Given the description of an element on the screen output the (x, y) to click on. 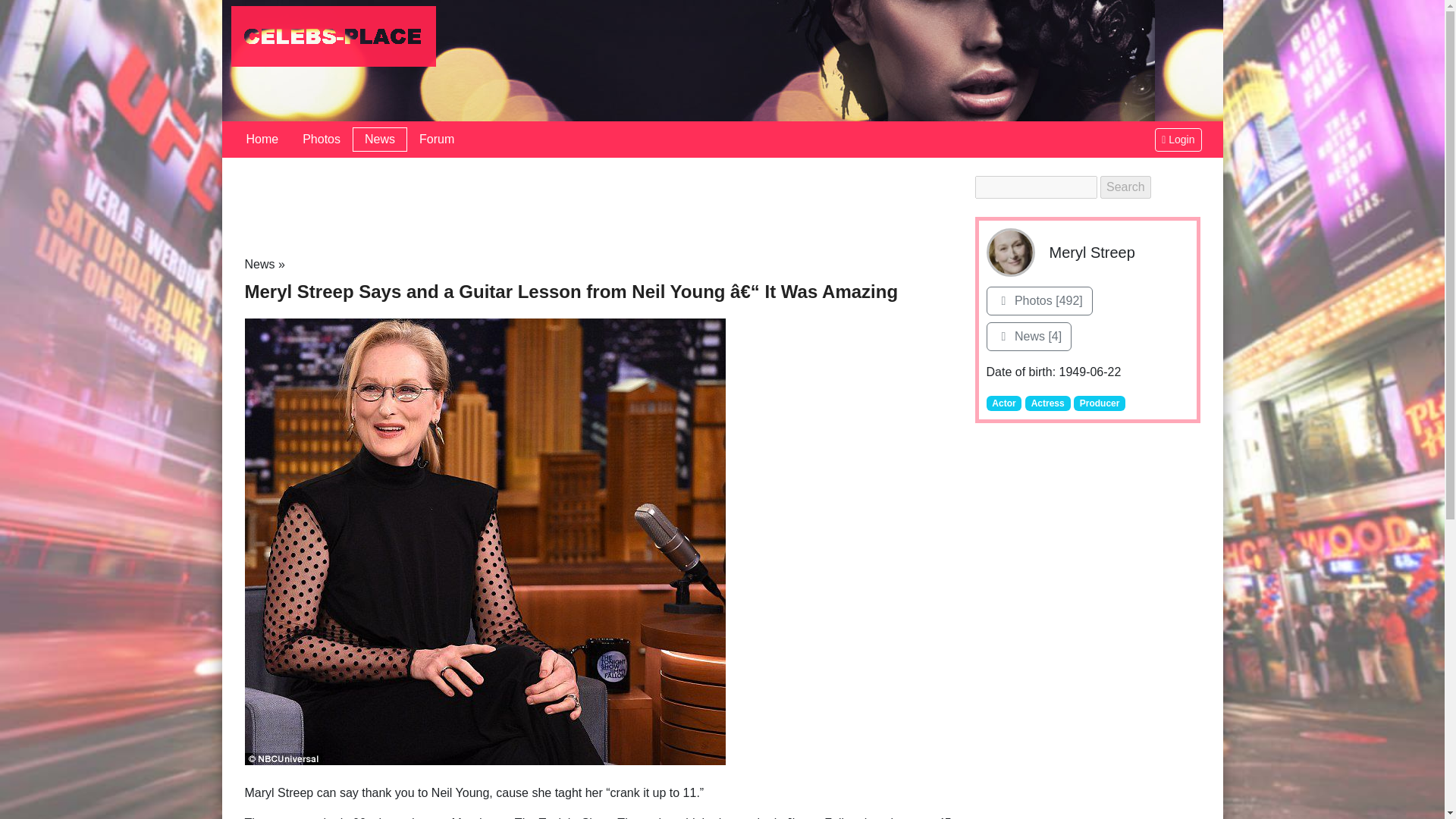
Search (1125, 187)
News (259, 264)
Advertisement (600, 210)
Search (1125, 187)
Login (1177, 138)
Forum (436, 139)
Photos (320, 139)
News (379, 139)
Home (260, 139)
